Given the description of an element on the screen output the (x, y) to click on. 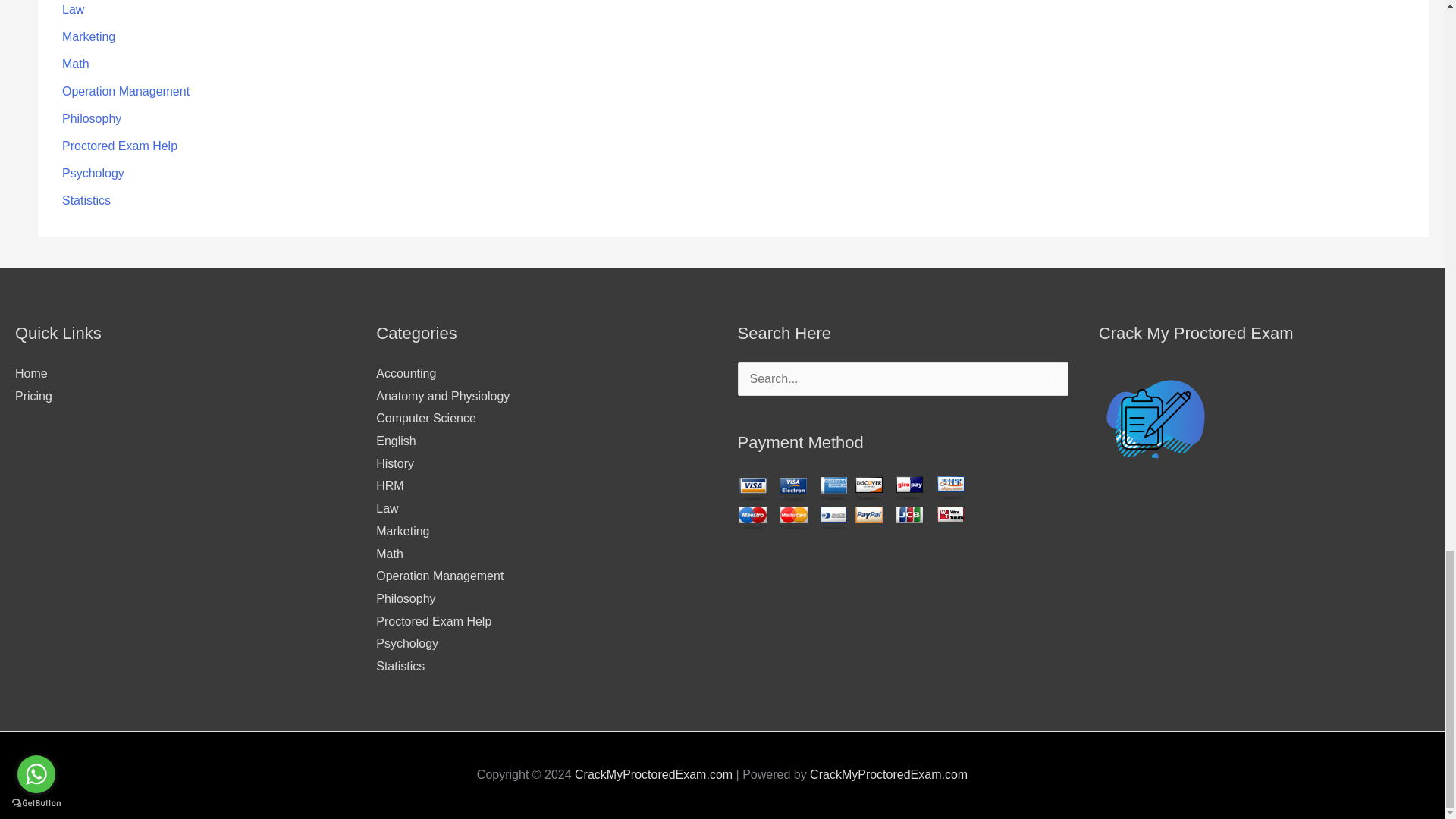
Law (73, 9)
Proctored Exam Help (119, 145)
Math (75, 63)
Psychology (92, 173)
Philosophy (91, 118)
Marketing (88, 36)
Operation Management (125, 91)
Statistics (86, 200)
